Given the description of an element on the screen output the (x, y) to click on. 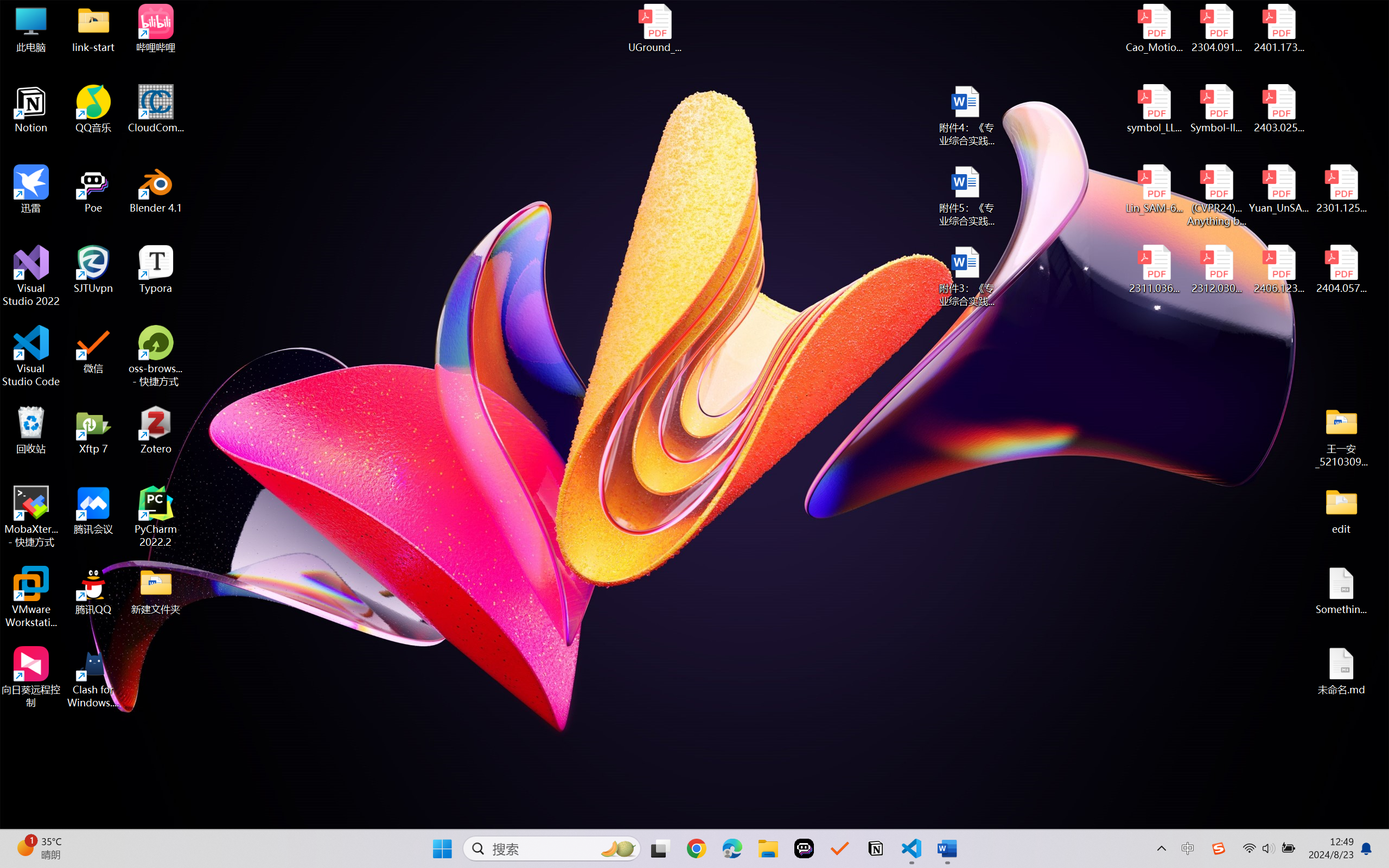
edit (1340, 510)
2312.03032v2.pdf (1216, 269)
2304.09121v3.pdf (1216, 28)
